Given the description of an element on the screen output the (x, y) to click on. 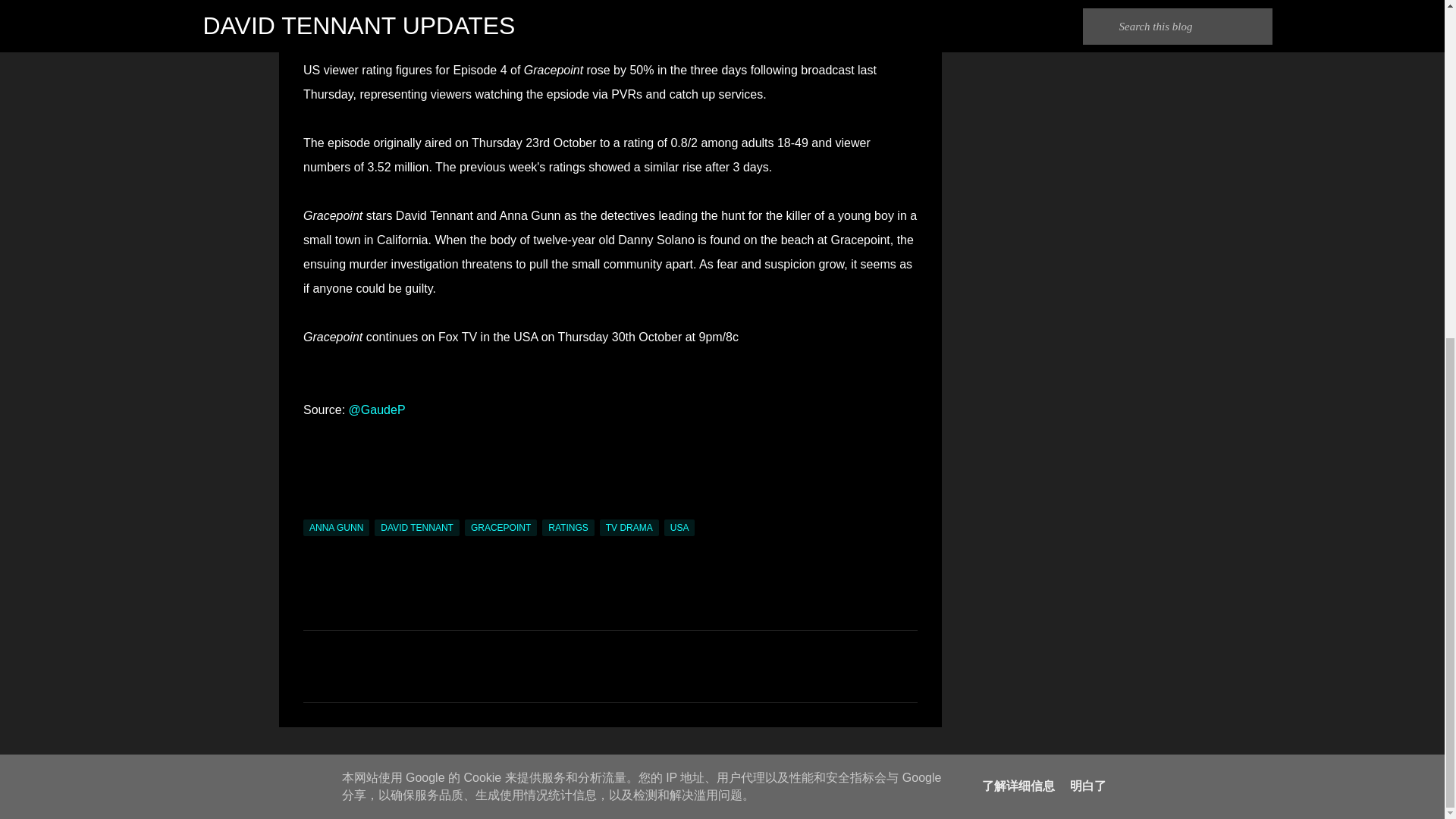
DAVID TENNANT (417, 527)
Powered by Blogger (721, 766)
ANNA GUNN (335, 527)
RATINGS (567, 527)
Email Post (311, 510)
TV DRAMA (629, 527)
GRACEPOINT (500, 527)
USA (679, 527)
